Given the description of an element on the screen output the (x, y) to click on. 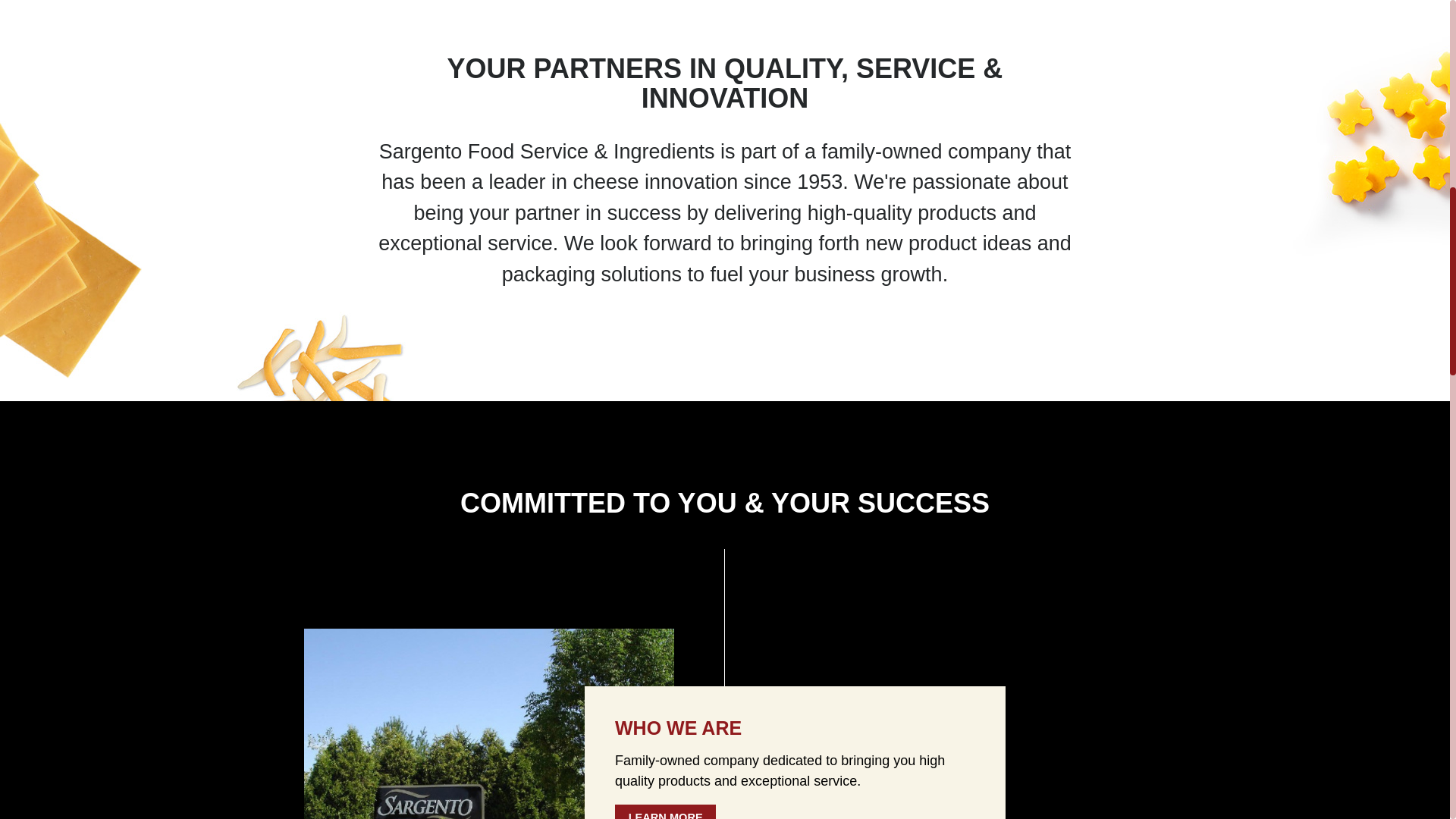
Go to Who We Are (514, 773)
Go to Learn More (665, 811)
LEARN MORE (665, 811)
